Given the description of an element on the screen output the (x, y) to click on. 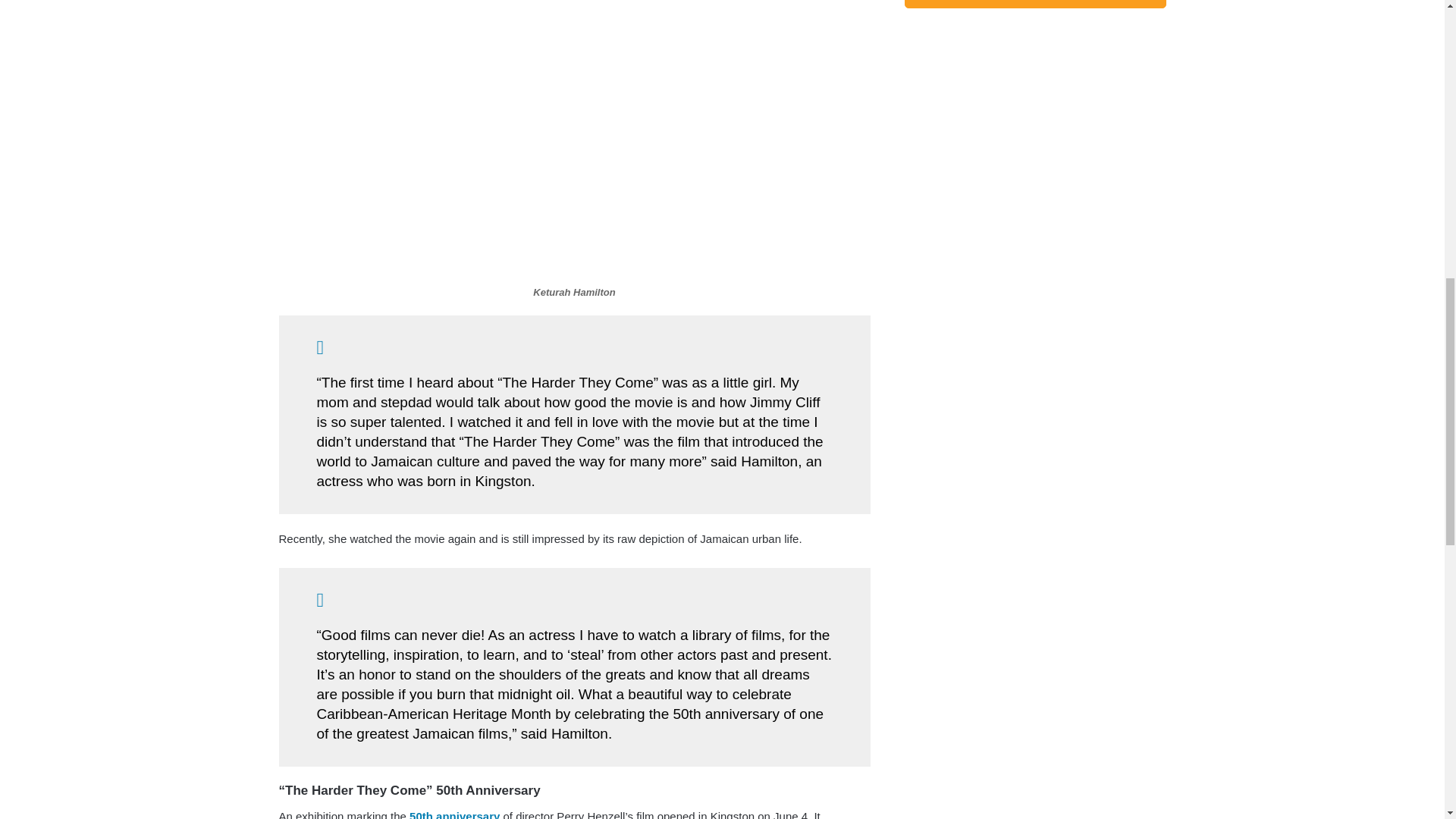
50th anniversary (452, 814)
3rd party ad content (1034, 140)
